Given the description of an element on the screen output the (x, y) to click on. 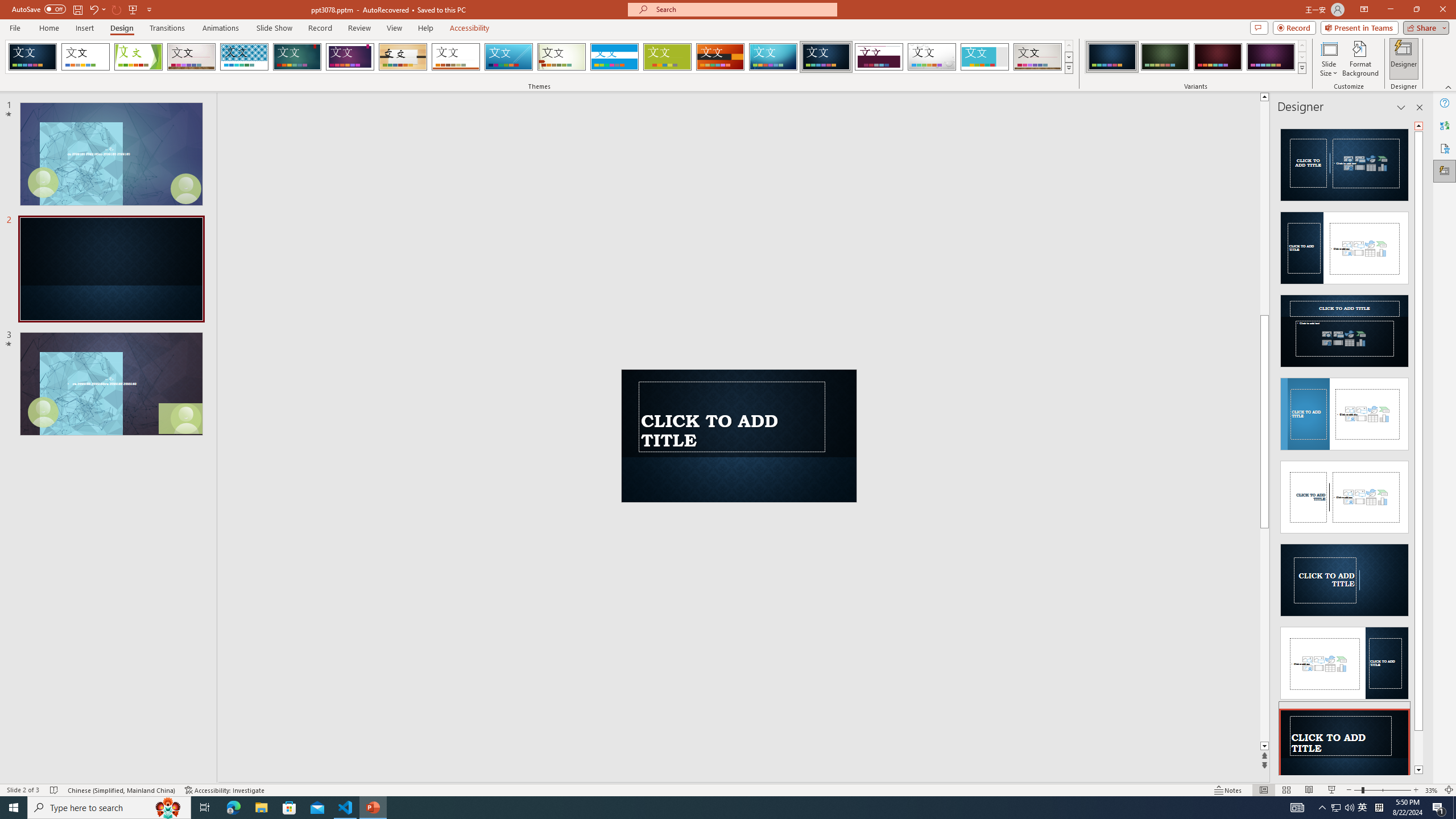
Banded (614, 56)
Slice (508, 56)
Integral (244, 56)
